Given the description of an element on the screen output the (x, y) to click on. 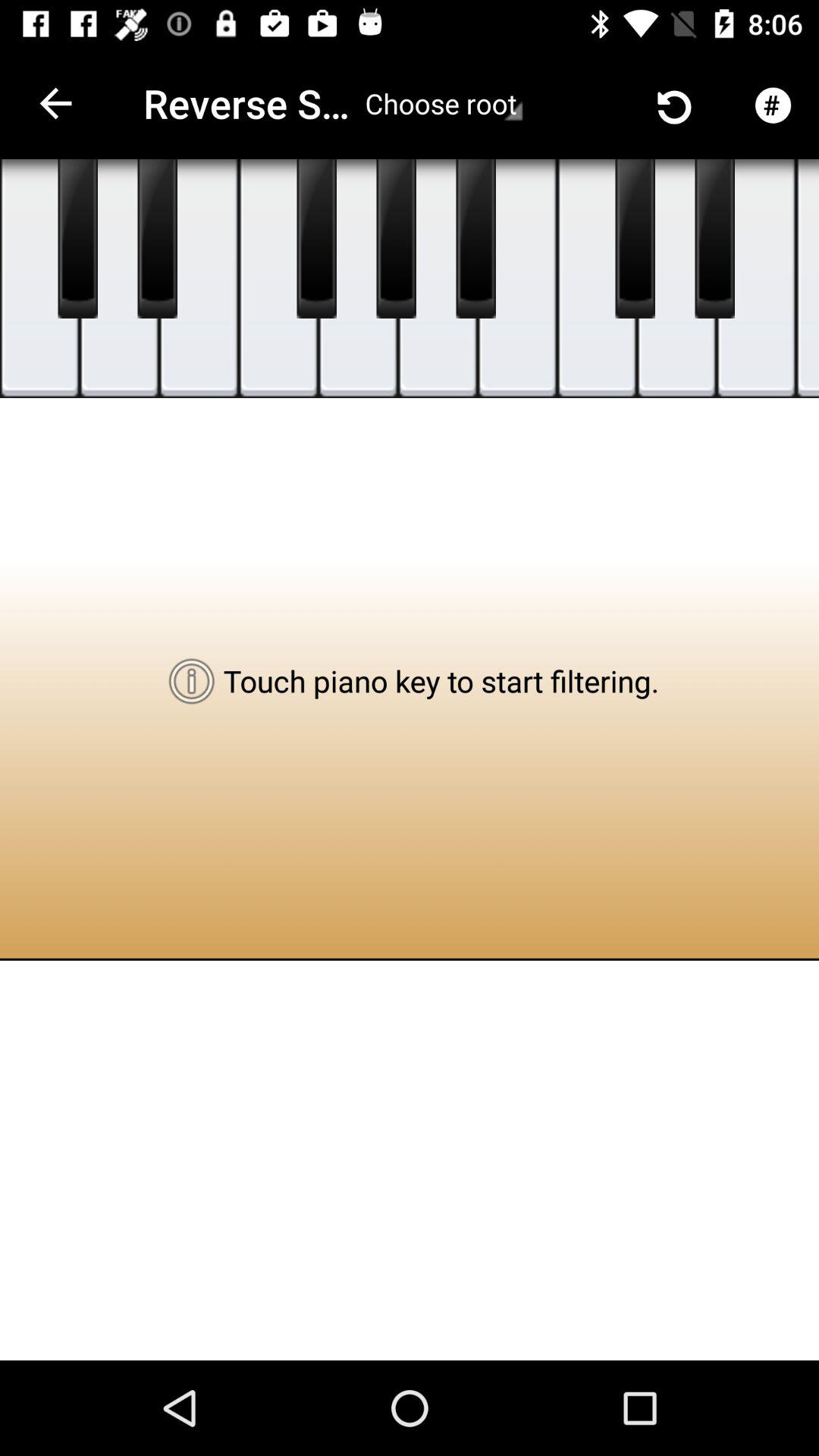
choose root (444, 103)
go to the fifth key from left (358, 277)
click on the third black piano key from right side (476, 238)
click on the first black tile from the left hand side (77, 238)
click on the black color tile which is below the word choose (396, 238)
click on the second black colour tile from the left hand side (157, 238)
